Given the description of an element on the screen output the (x, y) to click on. 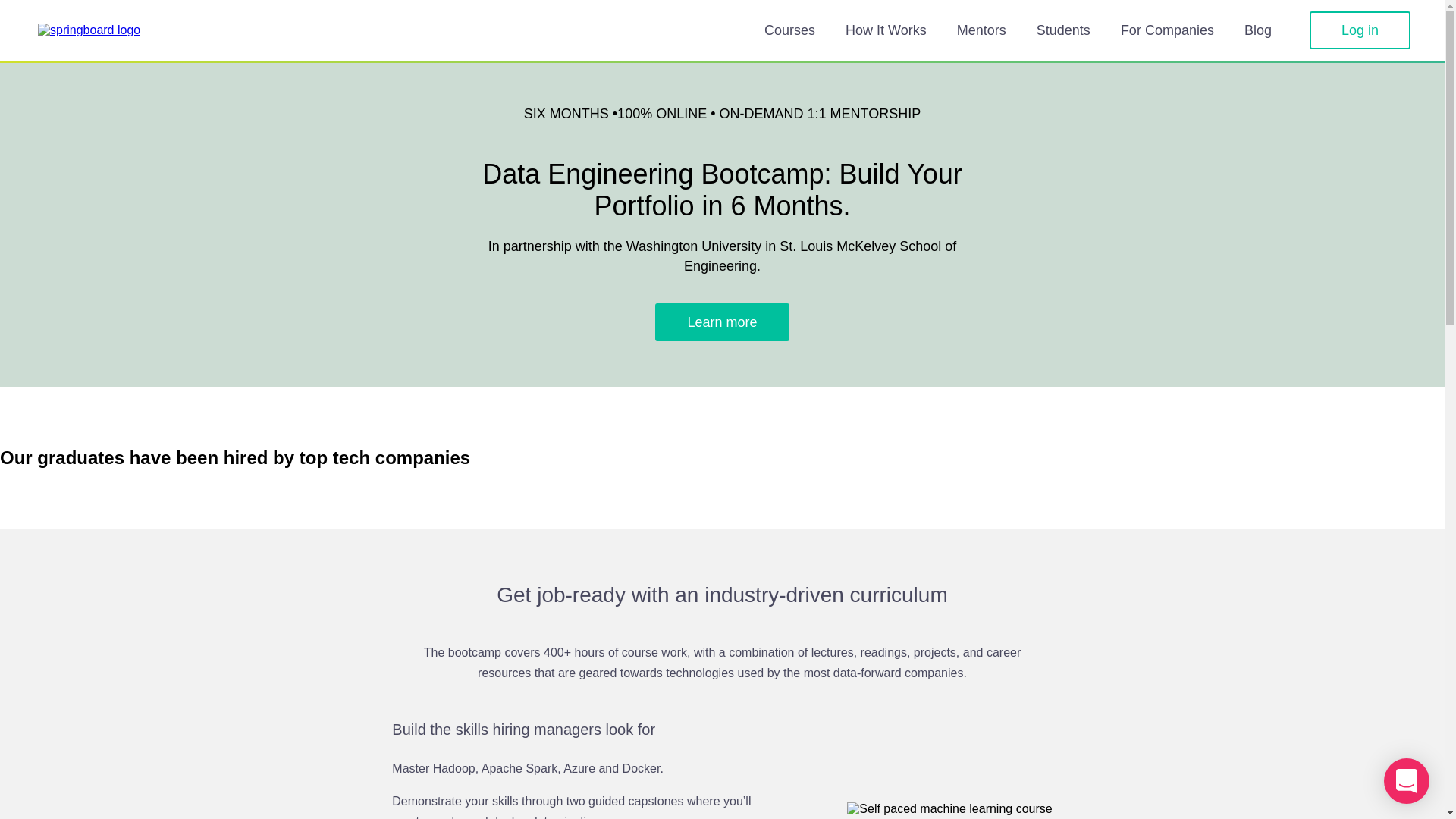
Log in (1359, 30)
Blog (1257, 29)
Learn more (722, 322)
Learn more (722, 322)
